Given the description of an element on the screen output the (x, y) to click on. 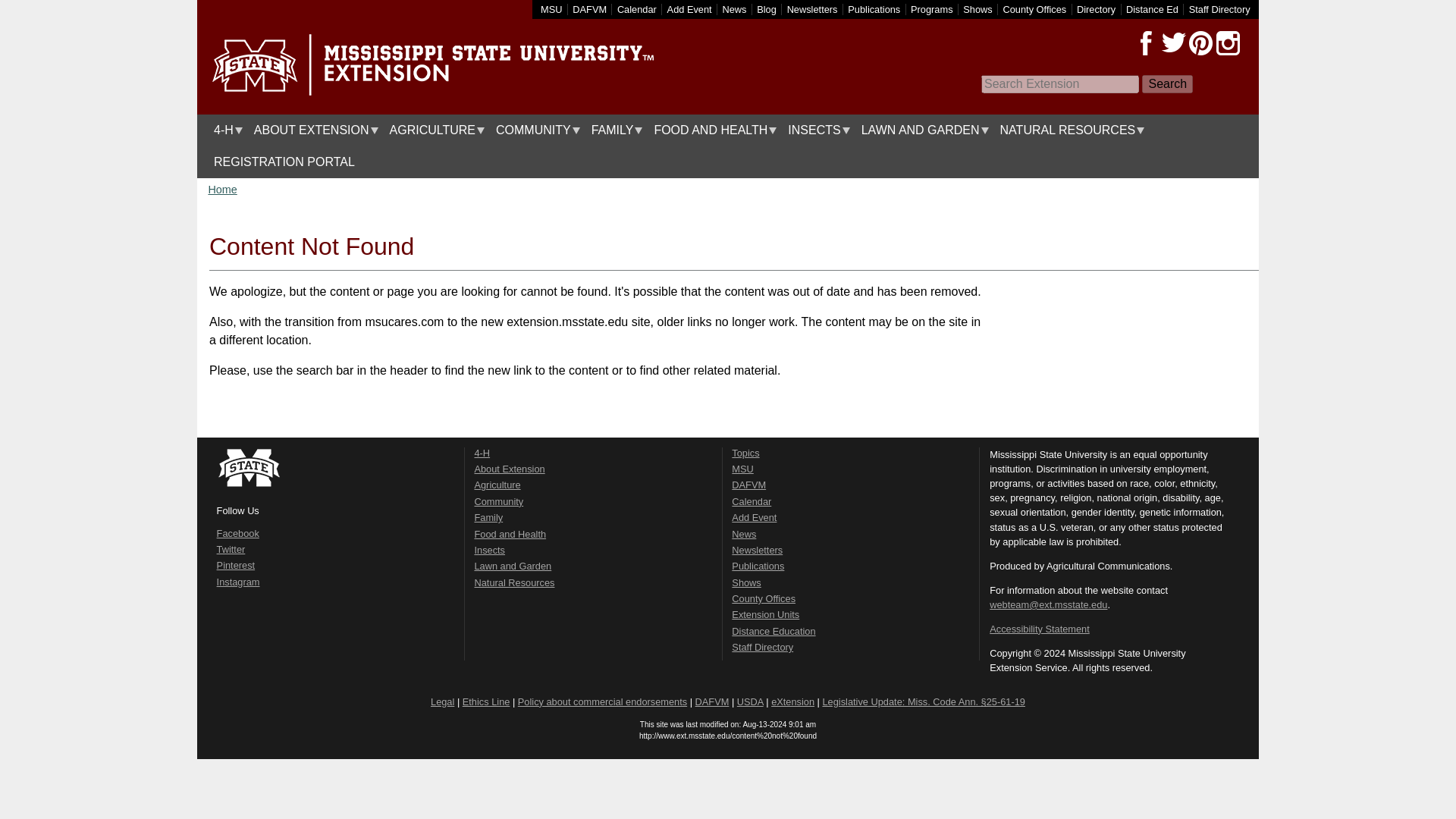
List of Extension Programs (931, 9)
Blog (766, 9)
Programs (931, 9)
Facebook (1146, 43)
DAFVM (589, 9)
The main event calendar for the MSU Extension Service (636, 9)
Calendar (636, 9)
Link to Mississippi State University (551, 9)
Directory of employees of the MSU Extension Service (1219, 9)
